Given the description of an element on the screen output the (x, y) to click on. 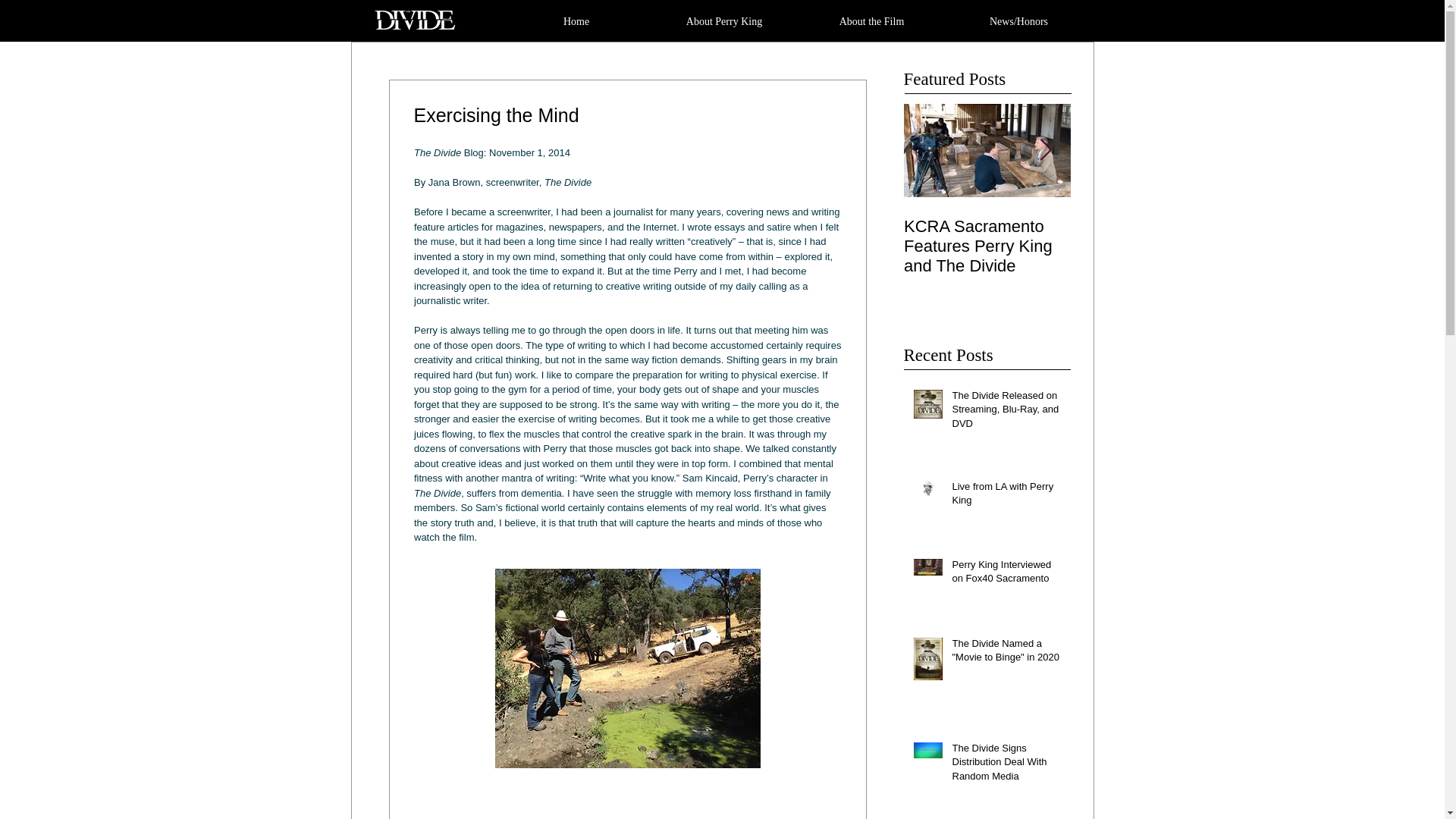
About the Film (871, 20)
Perry King Interviewed on Fox40 Sacramento (1006, 574)
KCRA Sacramento Features Perry King and The Divide (987, 246)
The Divide on Sacramento TV Today (1153, 236)
The Divide Named a "Movie to Binge" in 2020 (1006, 653)
Live from LA with Perry King (1006, 496)
The Divide Signs Distribution Deal With Random Media (1006, 765)
About Perry King (724, 20)
Enjoying the Ride (1321, 226)
Home (575, 20)
The Divide Released on Streaming, Blu-Ray, and DVD (1006, 412)
El Dorado County Newspaper Follows The Divide (820, 246)
